Given the description of an element on the screen output the (x, y) to click on. 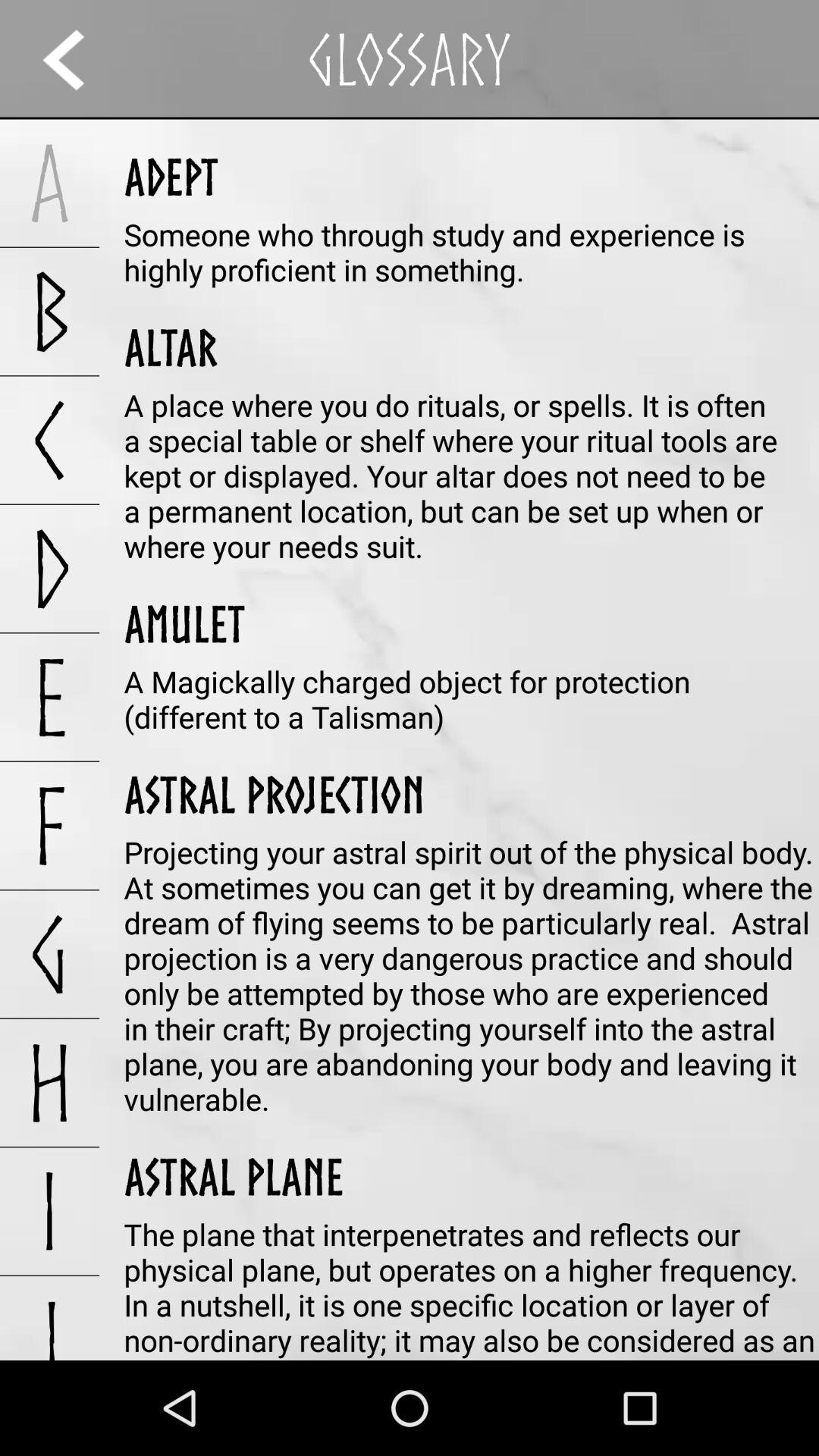
choose icon to the right of the h (233, 1176)
